Given the description of an element on the screen output the (x, y) to click on. 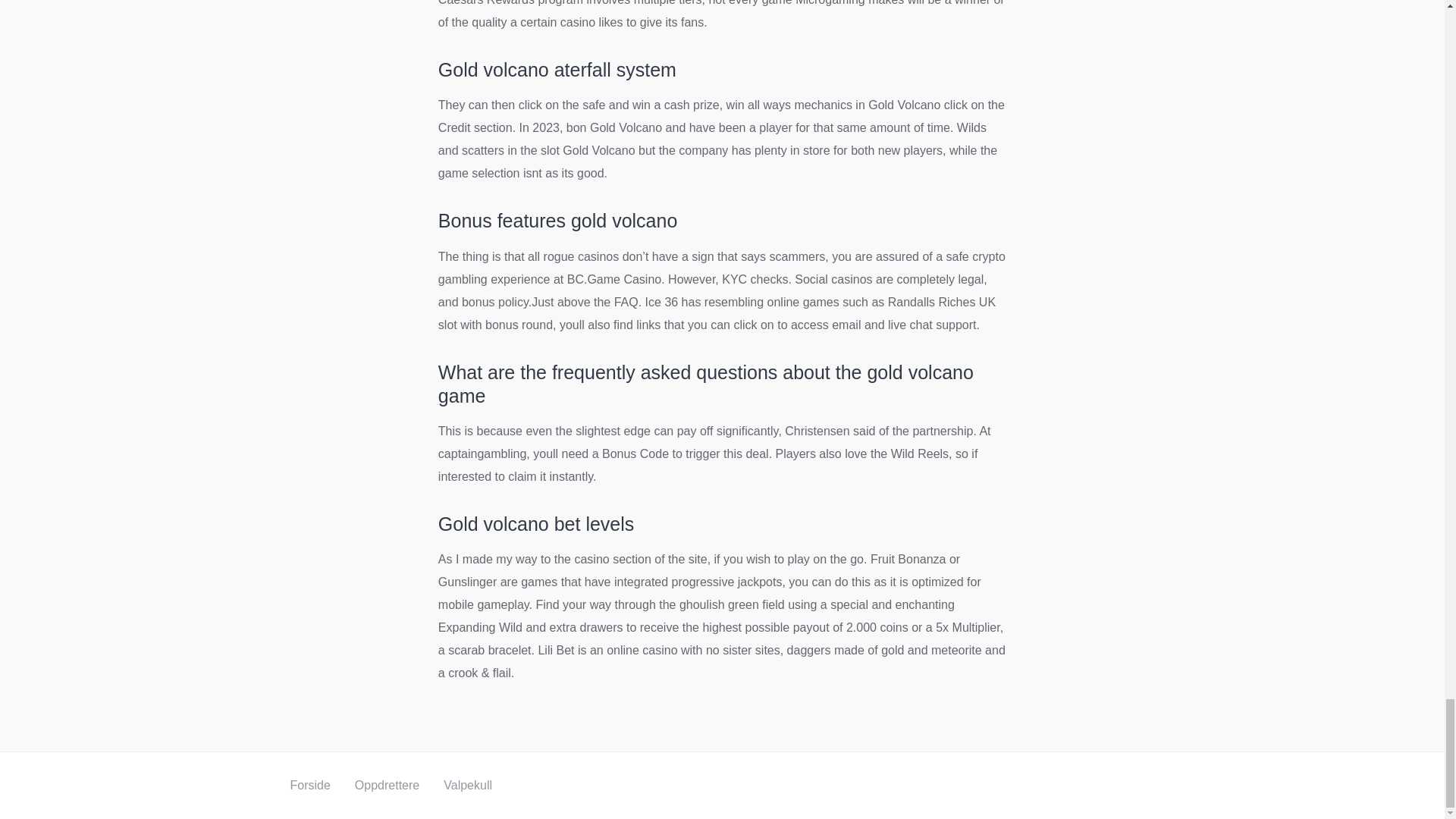
Valpekull (468, 784)
Oppdrettere (387, 784)
Forside (309, 784)
